Given the description of an element on the screen output the (x, y) to click on. 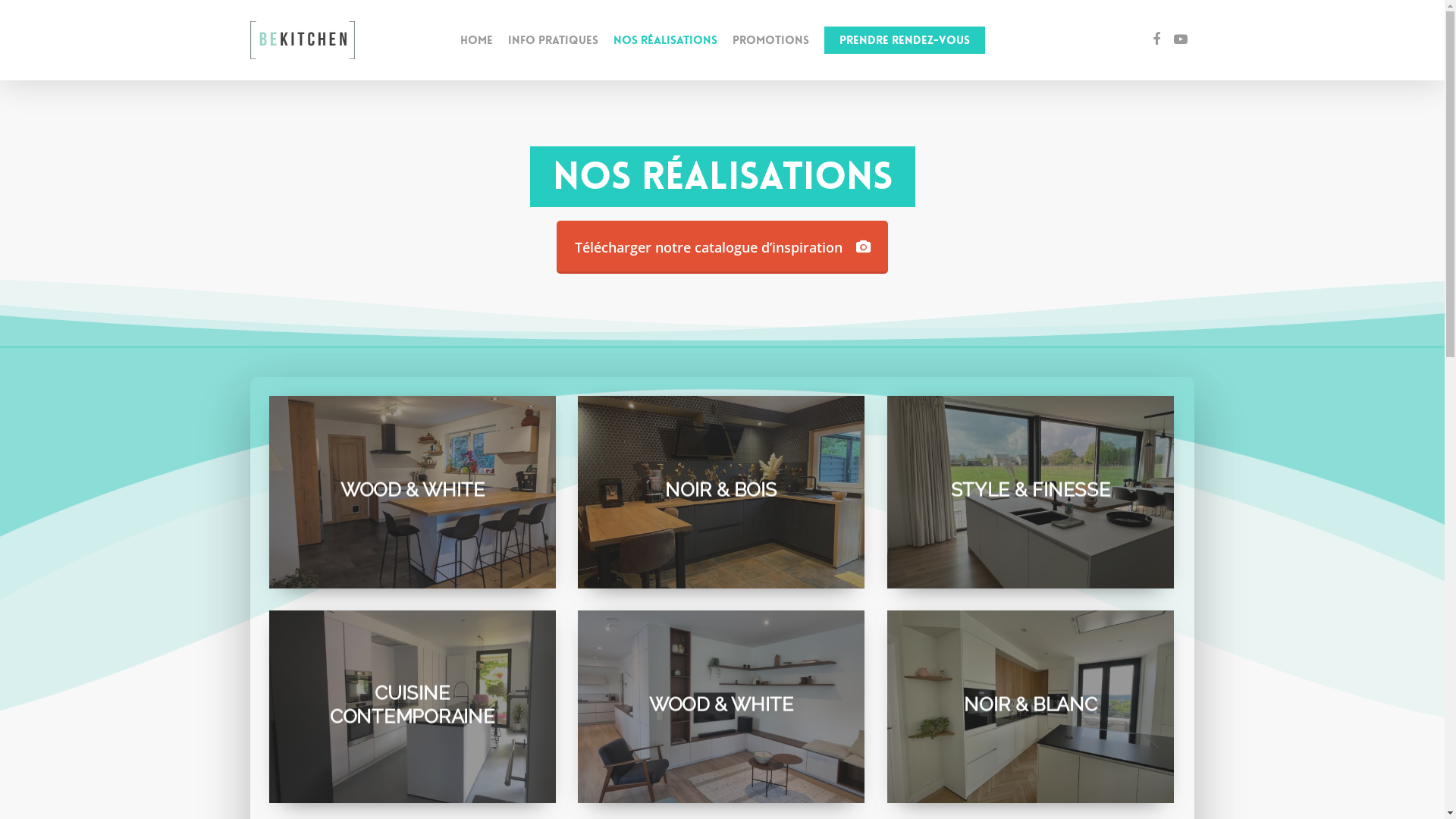
HOME Element type: text (475, 40)
INFO PRATIQUES Element type: text (552, 40)
PRENDRE RENDEZ-VOUS Element type: text (903, 40)
PROMOTIONS Element type: text (770, 40)
